Given the description of an element on the screen output the (x, y) to click on. 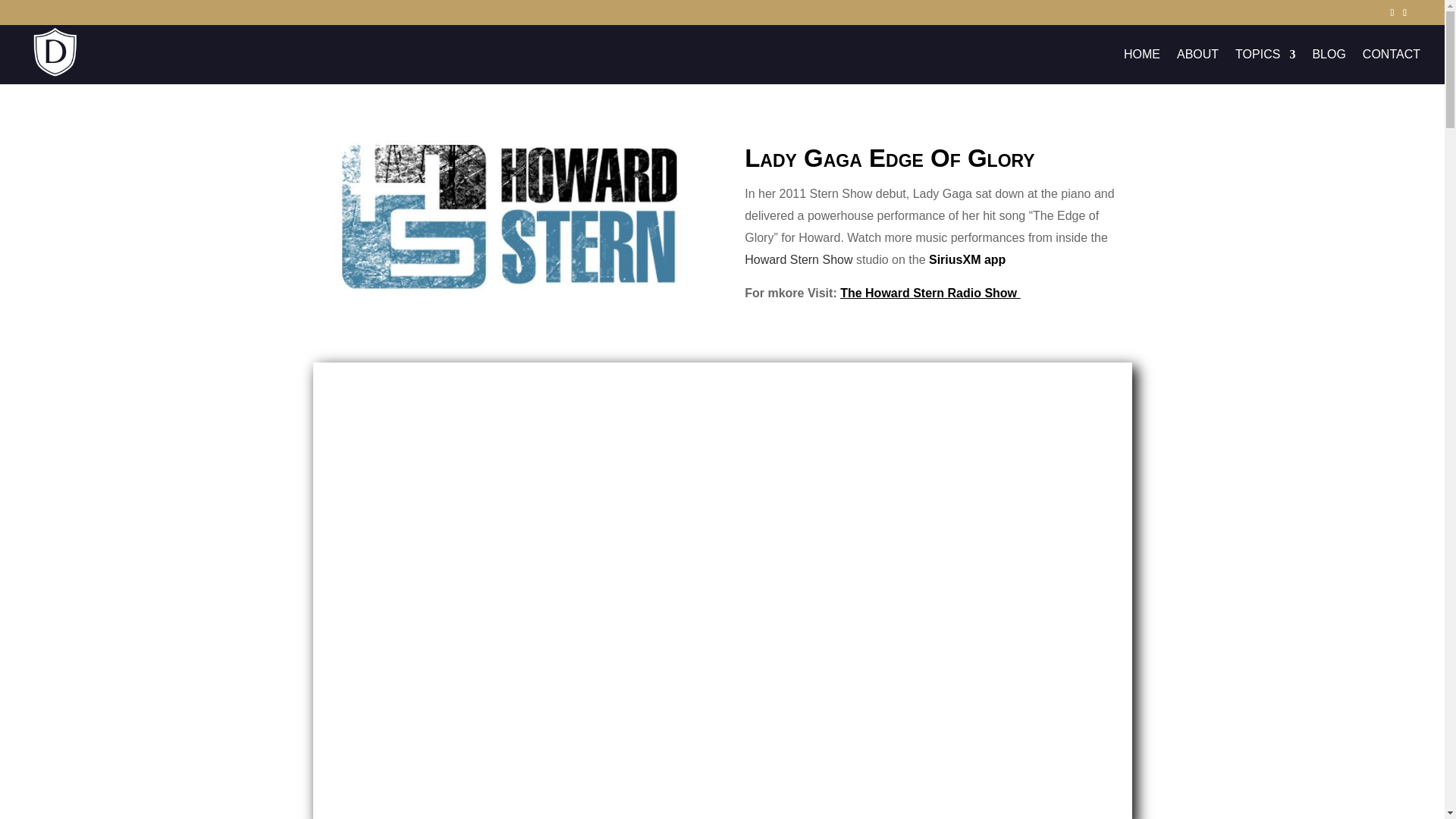
The Howard Stern Radio Show  (930, 292)
CONTACT (1391, 66)
Howard Stern Show (797, 259)
HOME (1142, 66)
SiriusXM app  (968, 259)
TOPICS (1264, 66)
Howard Stern Show Logo (505, 213)
BLOG (1328, 66)
Howard Stern  (797, 259)
ABOUT (1197, 66)
